Given the description of an element on the screen output the (x, y) to click on. 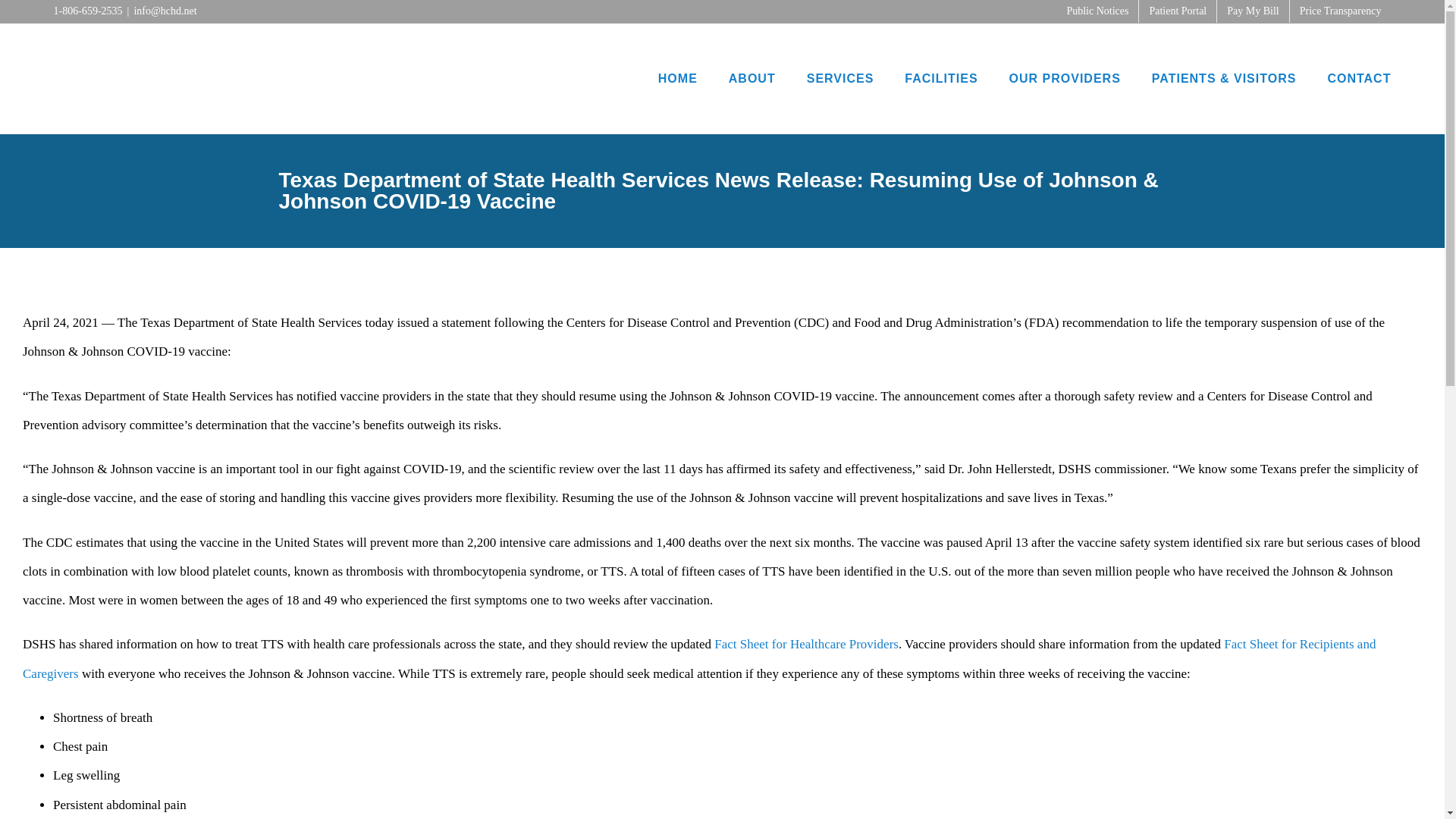
Price Transparency (1340, 11)
Public Notices (1097, 11)
OUR PROVIDERS (1065, 78)
Patient Portal (1176, 11)
Pay My Bill (1252, 11)
